Given the description of an element on the screen output the (x, y) to click on. 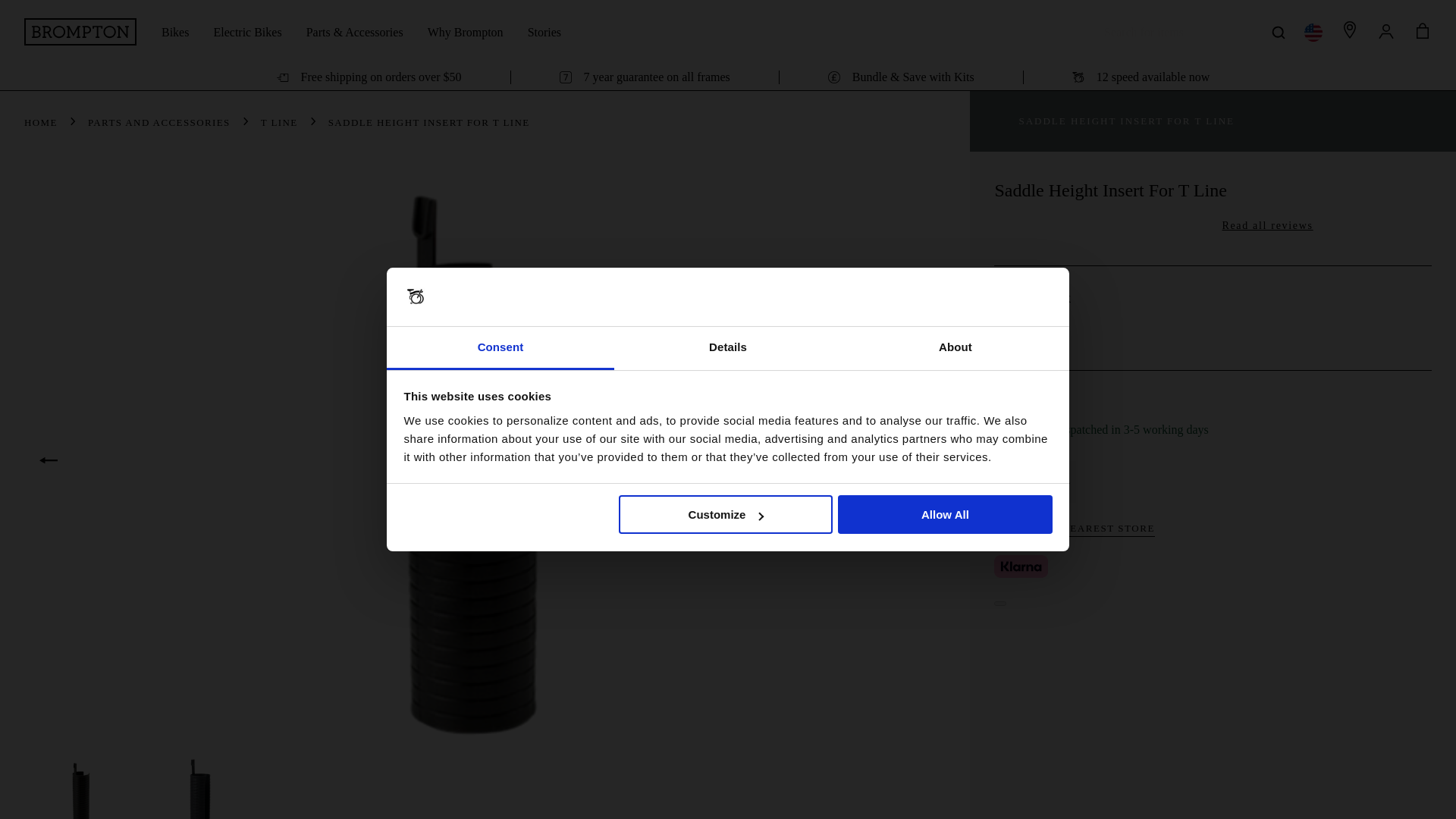
1 (1034, 481)
Details (727, 348)
About (954, 348)
Consent (500, 348)
